Given the description of an element on the screen output the (x, y) to click on. 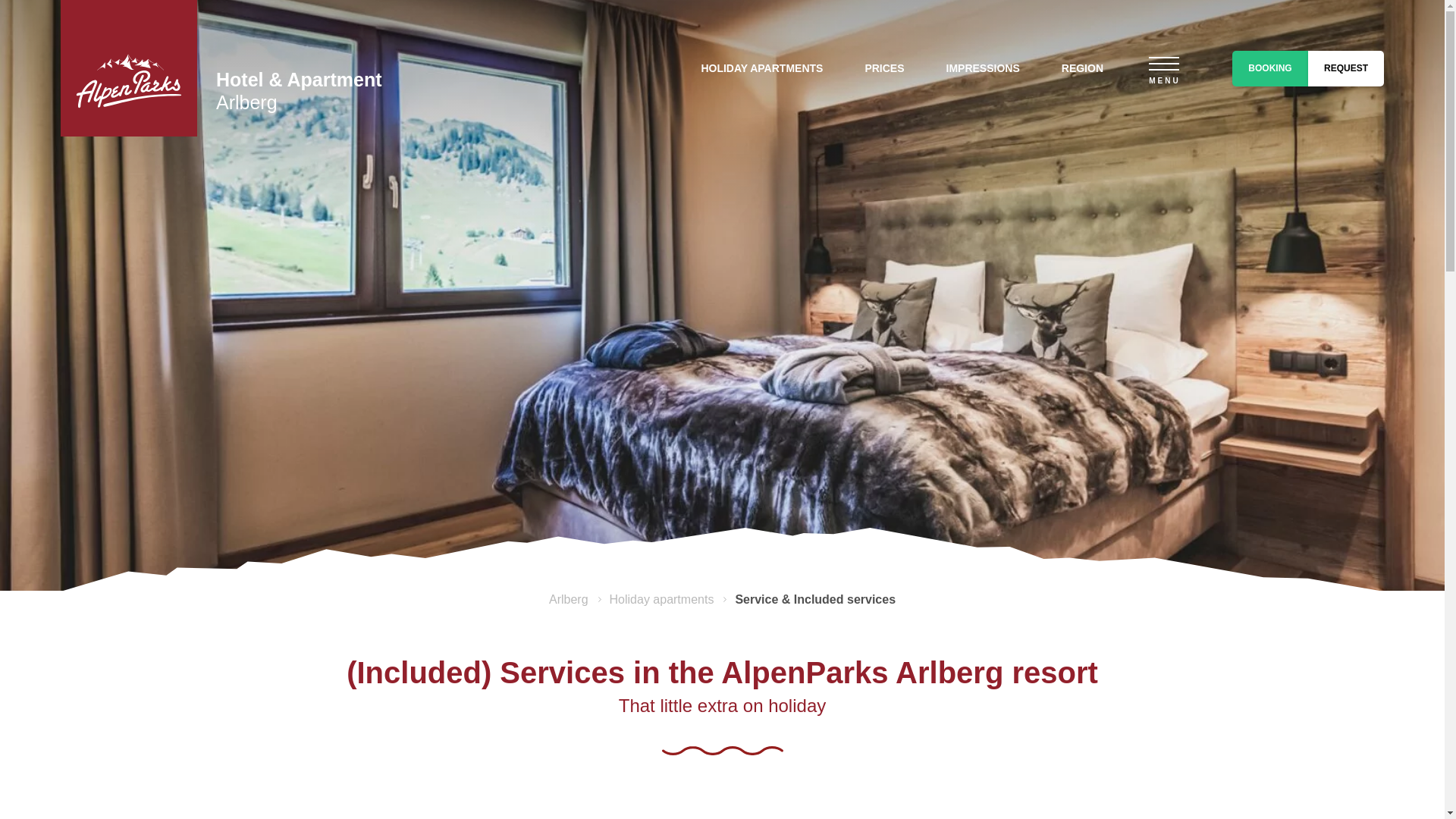
HOLIDAY APARTMENTS (761, 68)
REGION (1082, 68)
PRICES (884, 68)
IMPRESSIONS (983, 68)
REQUEST (1345, 67)
